Given the description of an element on the screen output the (x, y) to click on. 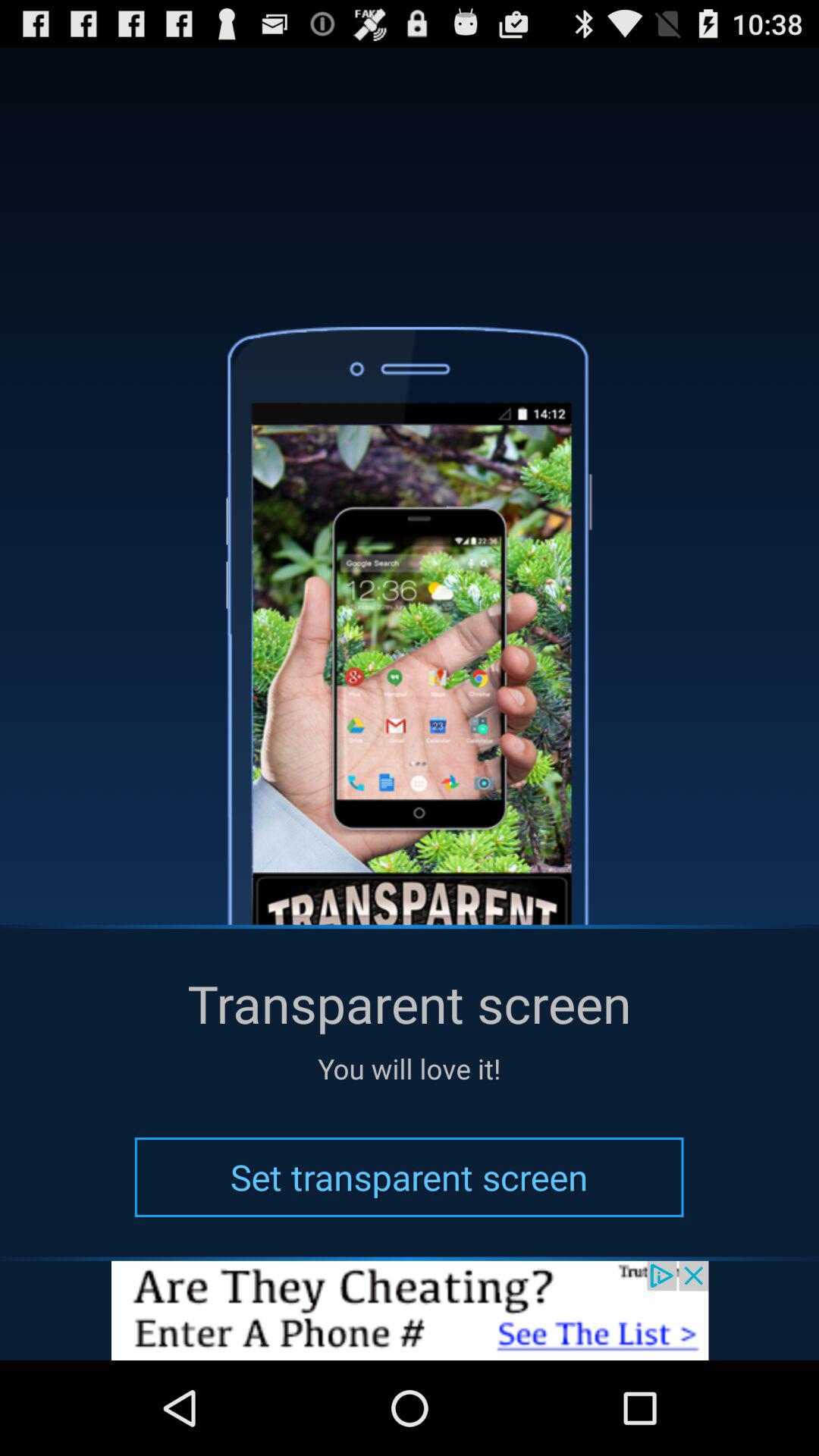
advertisement (409, 1310)
